Given the description of an element on the screen output the (x, y) to click on. 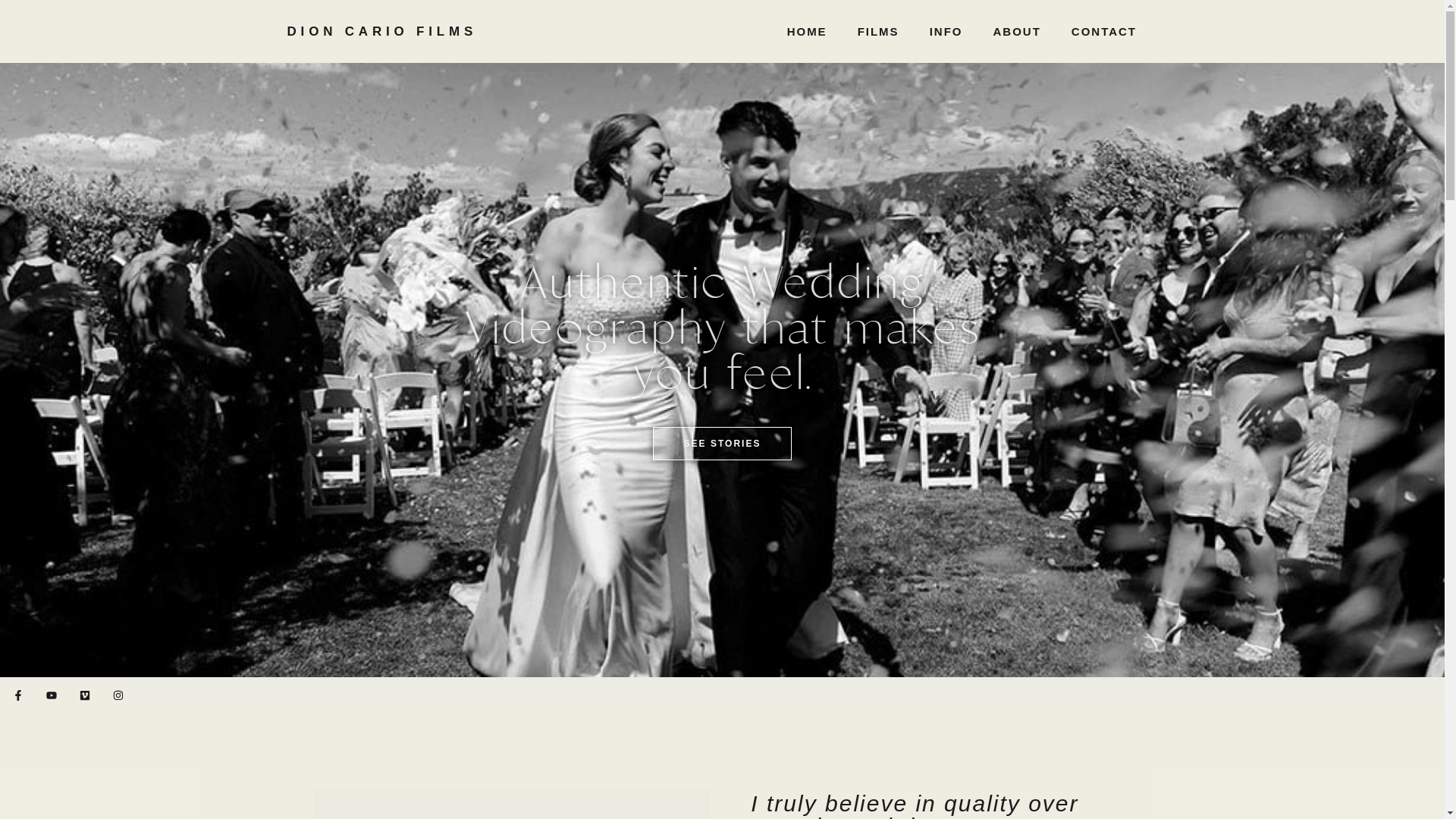
DION CARIO FILMS Element type: text (382, 31)
FILMS Element type: text (878, 30)
CONTACT Element type: text (1103, 30)
HOME Element type: text (806, 30)
INFO Element type: text (946, 30)
SEE STORIES Element type: text (722, 443)
ABOUT Element type: text (1016, 30)
